Given the description of an element on the screen output the (x, y) to click on. 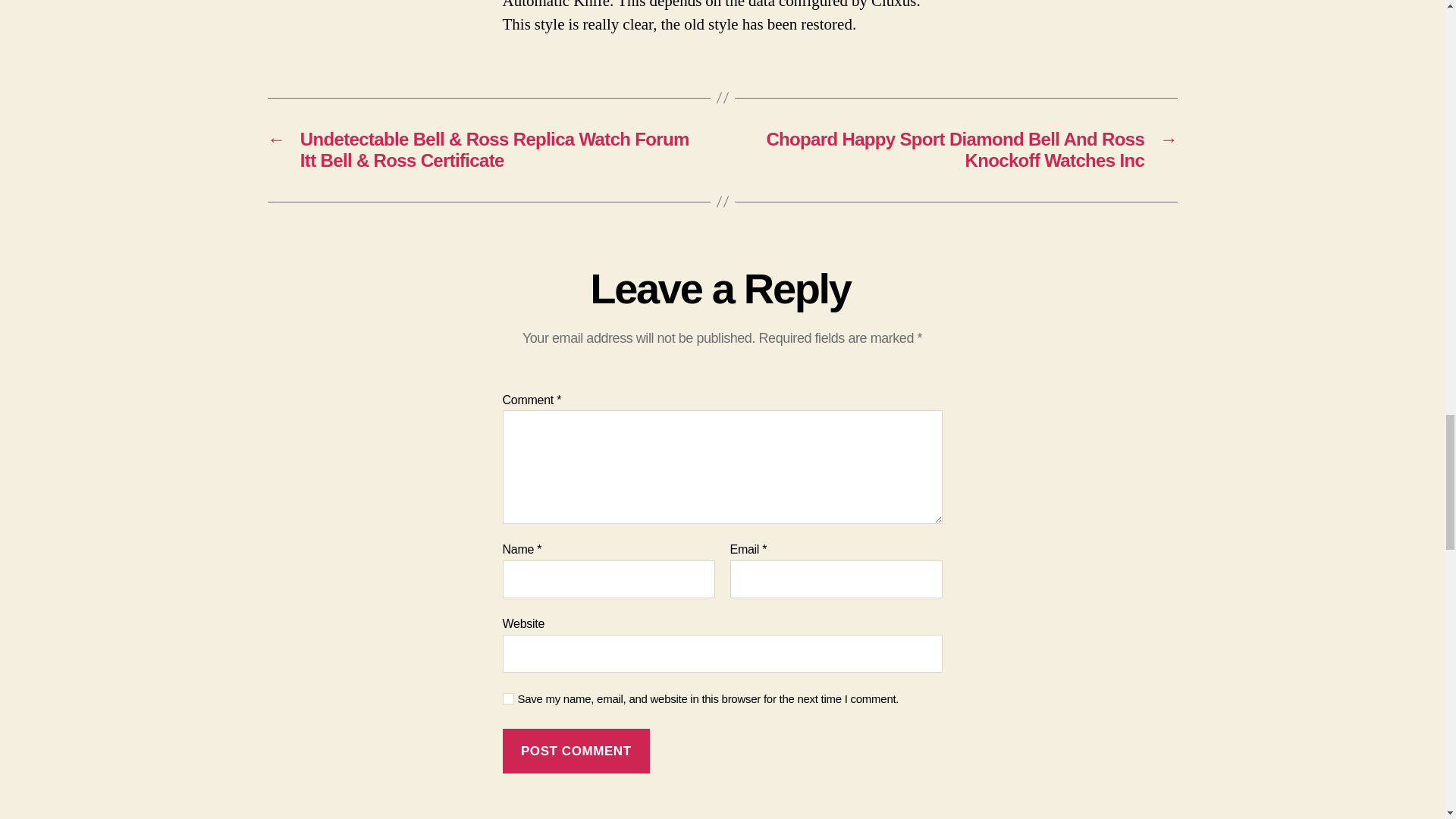
yes (507, 698)
Post Comment (575, 750)
Post Comment (575, 750)
